Given the description of an element on the screen output the (x, y) to click on. 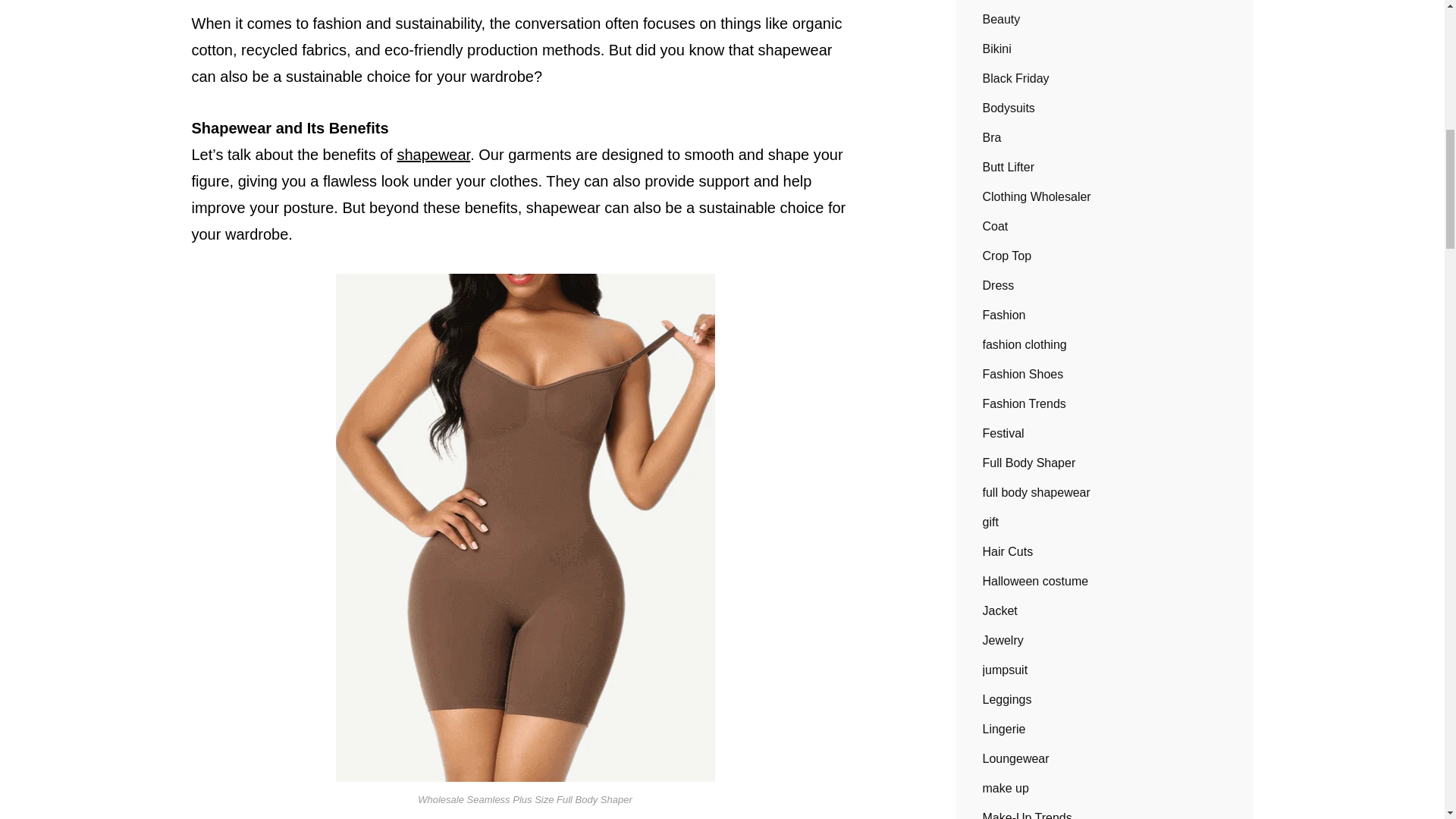
Bags (996, 1)
Coat (995, 226)
Bikini (996, 48)
Fashion (1004, 315)
Crop Top (1007, 256)
Festival (1003, 433)
Fashion Trends (1023, 404)
Clothing Wholesaler (1036, 197)
Dress (998, 285)
fashion clothing (1024, 344)
Beauty (1001, 19)
Fashion Shoes (1023, 374)
Butt Lifter (1007, 167)
Bodysuits (1008, 108)
Black Friday (1015, 78)
